Given the description of an element on the screen output the (x, y) to click on. 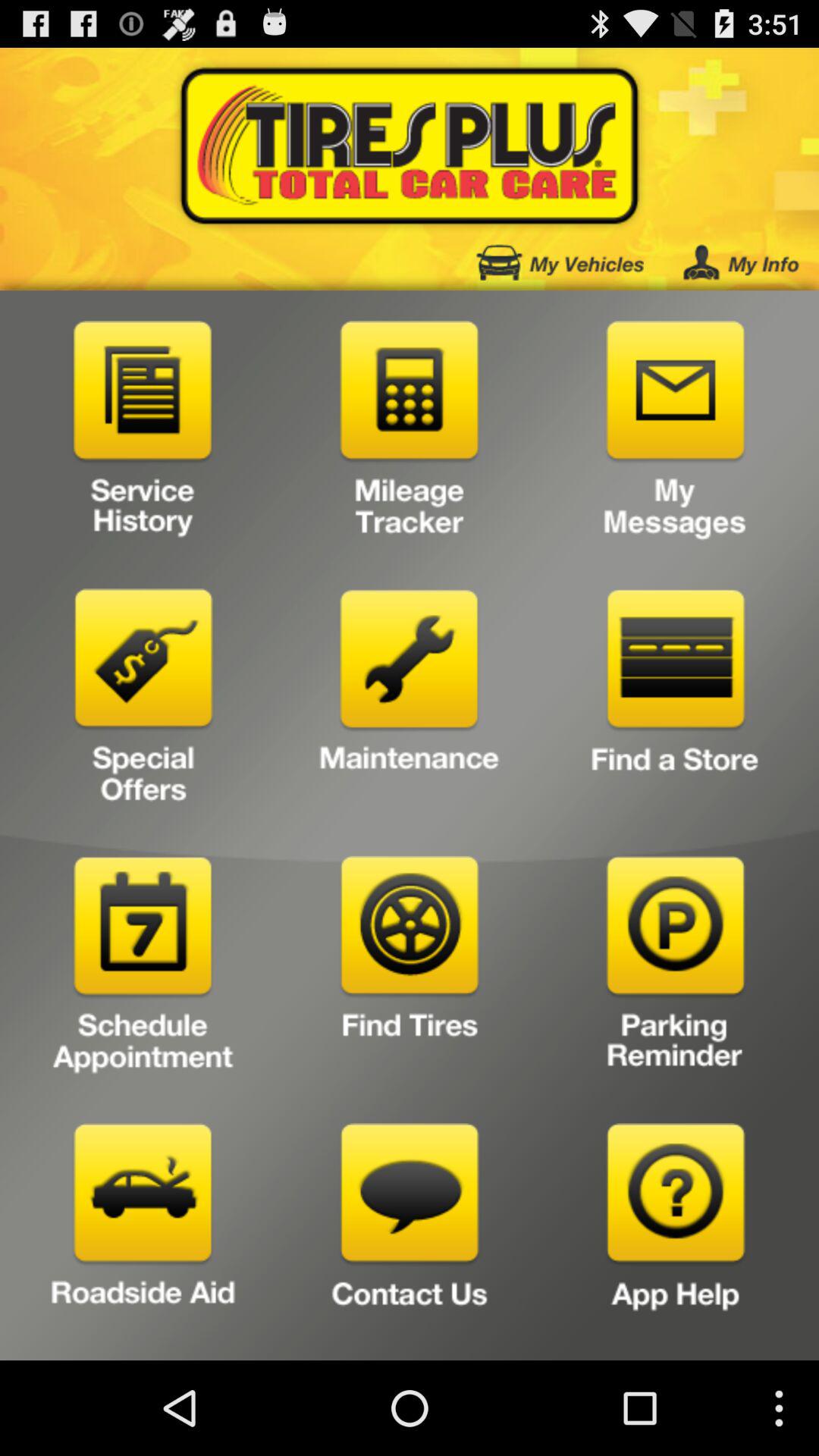
request roadside aid (142, 1236)
